Given the description of an element on the screen output the (x, y) to click on. 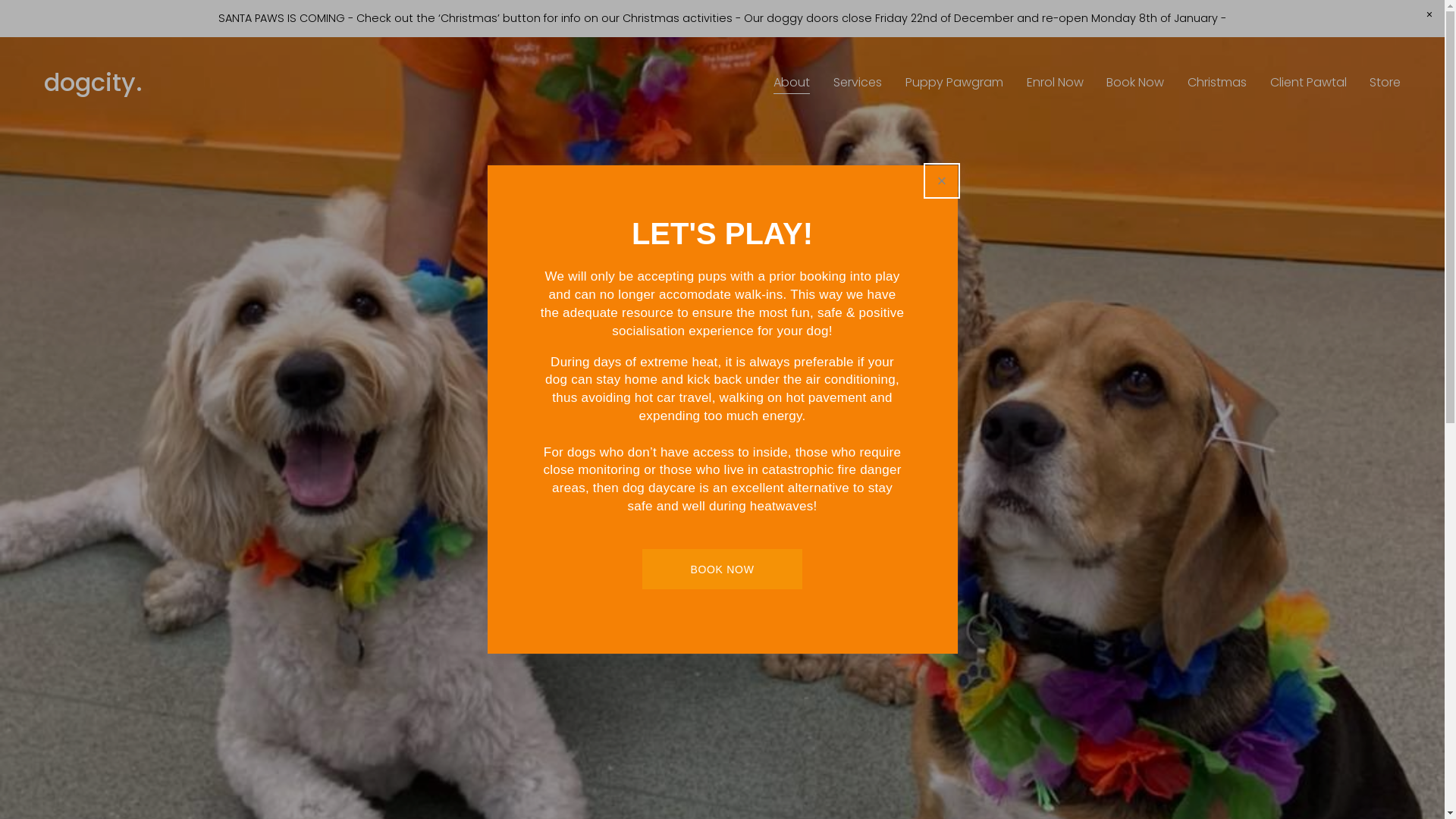
Grooming Pricelist Element type: text (855, 543)
BOOK NOW Element type: text (722, 569)
Puppy Pawgram Element type: text (954, 83)
Client Pawtal Element type: text (1308, 83)
Enrol Now Element type: text (1054, 83)
Christmas Element type: text (1216, 83)
Store Element type: text (1384, 83)
Services Element type: text (857, 83)
About Element type: text (791, 83)
Daycare Pricelist Element type: text (626, 543)
Book Now Element type: text (1135, 83)
dogcity. Element type: text (92, 82)
